Given the description of an element on the screen output the (x, y) to click on. 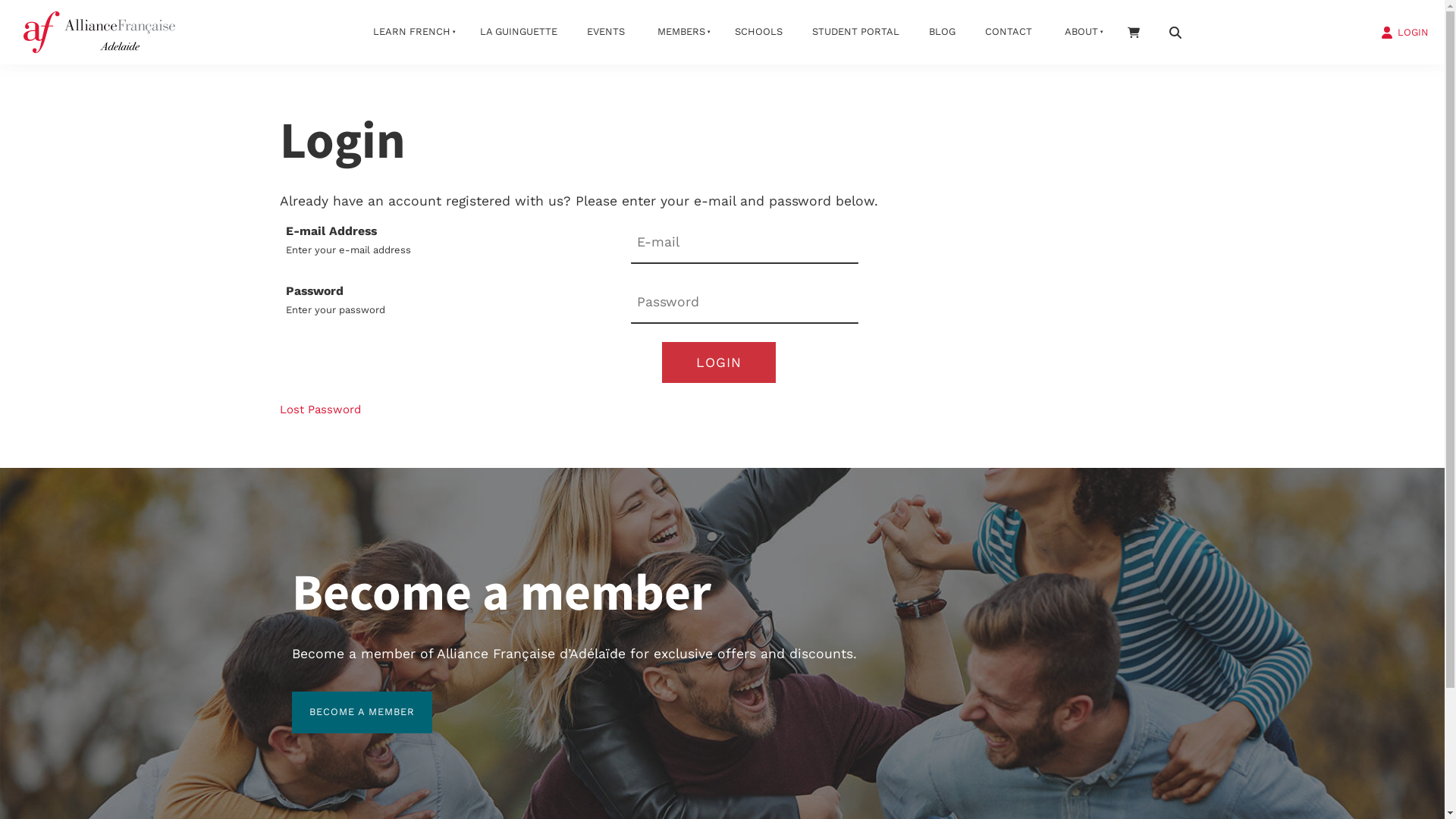
CONTACT Element type: text (1008, 31)
SCHOOLS Element type: text (758, 31)
BLOG Element type: text (942, 31)
STUDENT PORTAL Element type: text (855, 31)
LOGIN Element type: text (1404, 30)
Lost Password Element type: text (319, 409)
BECOME A MEMBER Element type: text (361, 712)
LA GUINGUETTE Element type: text (518, 31)
ABOUT Element type: text (1079, 31)
EVENTS Element type: text (605, 31)
MEMBERS Element type: text (680, 31)
LOGIN Element type: text (718, 362)
LEARN FRENCH Element type: text (409, 31)
